Given the description of an element on the screen output the (x, y) to click on. 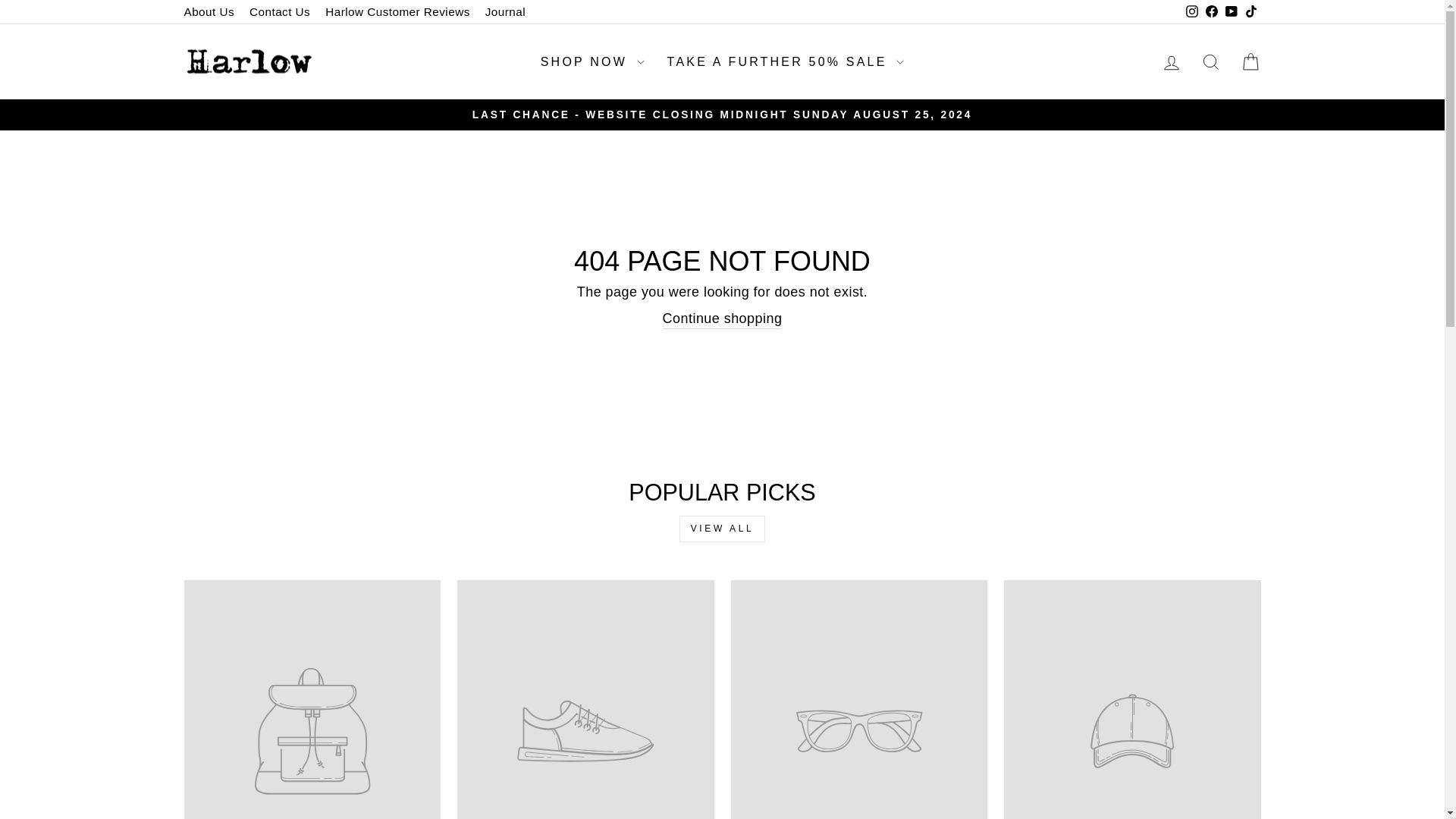
instagram (1192, 10)
ICON-SEARCH (1210, 61)
ACCOUNT (1170, 62)
